Given the description of an element on the screen output the (x, y) to click on. 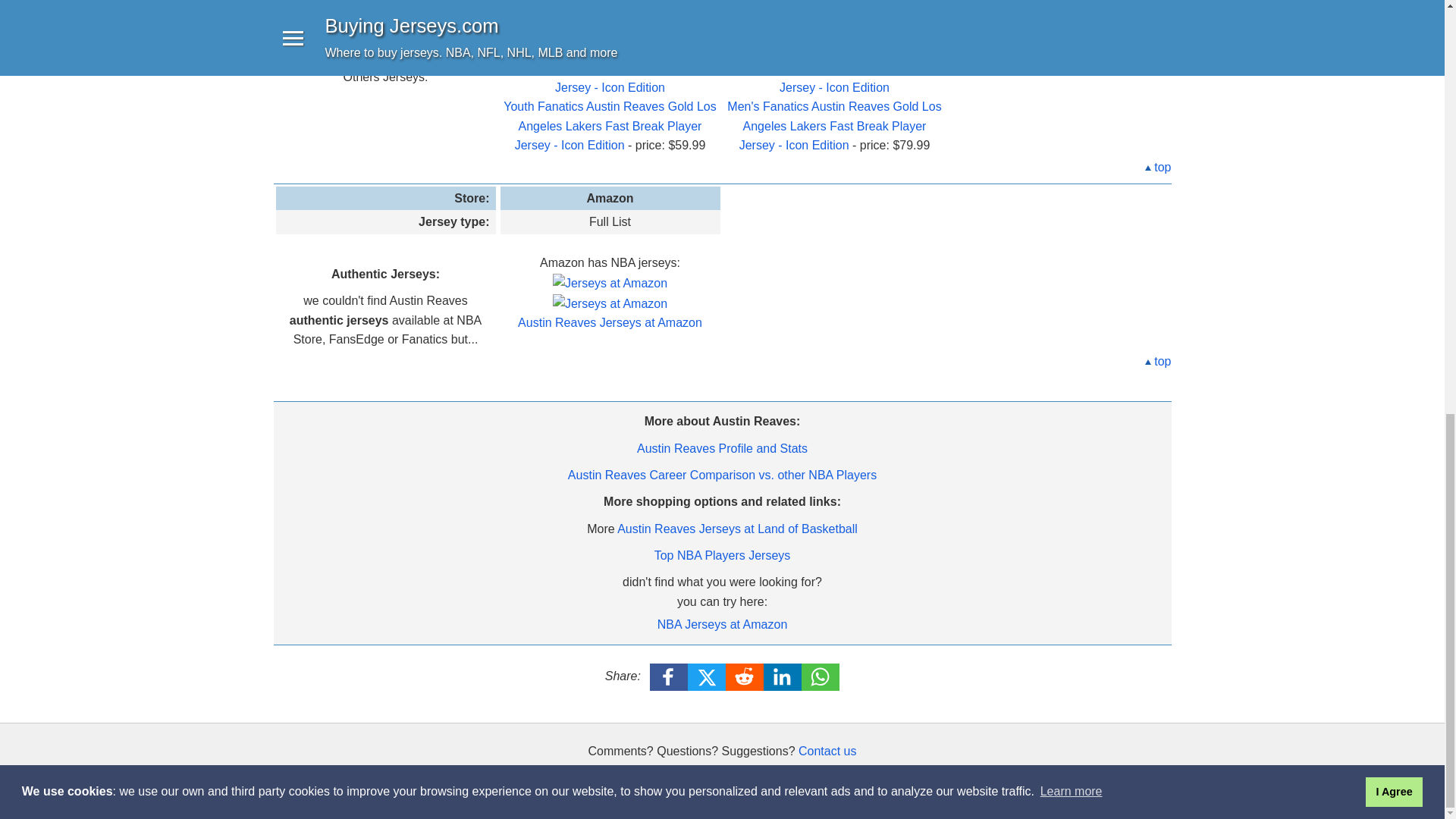
LinkedIn (782, 677)
Reddit (744, 677)
Facebook (668, 677)
WhatsApp (820, 677)
